Given the description of an element on the screen output the (x, y) to click on. 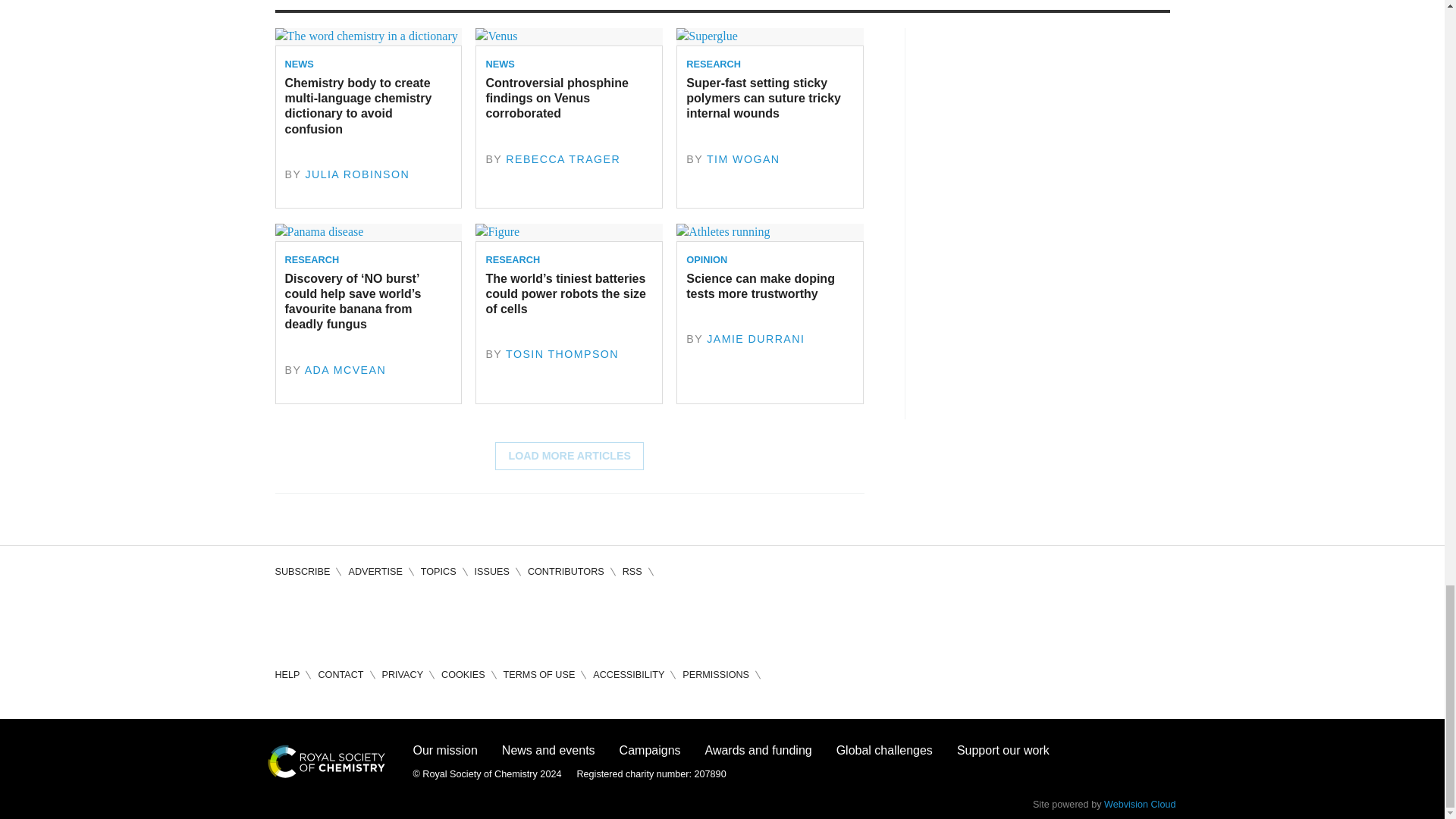
Follow on Facebook (287, 619)
Connect on Linked in (373, 619)
Follow on Twitter (330, 619)
Watch on Vimeo (416, 619)
